Given the description of an element on the screen output the (x, y) to click on. 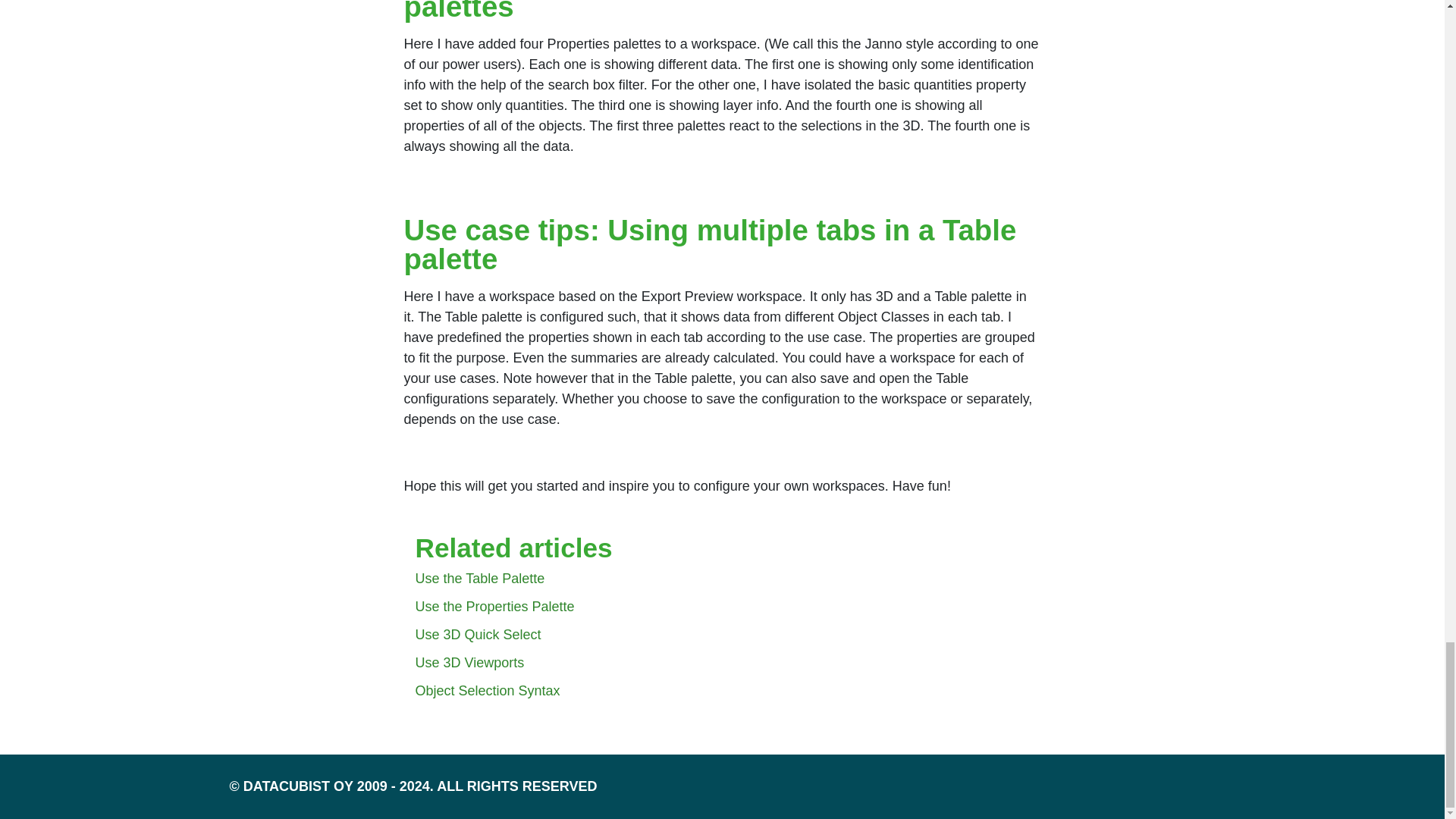
Use 3D Quick Select (477, 634)
Use the Table Palette (479, 578)
Use the Properties Palette (494, 606)
Object Selection Syntax (487, 690)
Use 3D Viewports (469, 662)
